Given the description of an element on the screen output the (x, y) to click on. 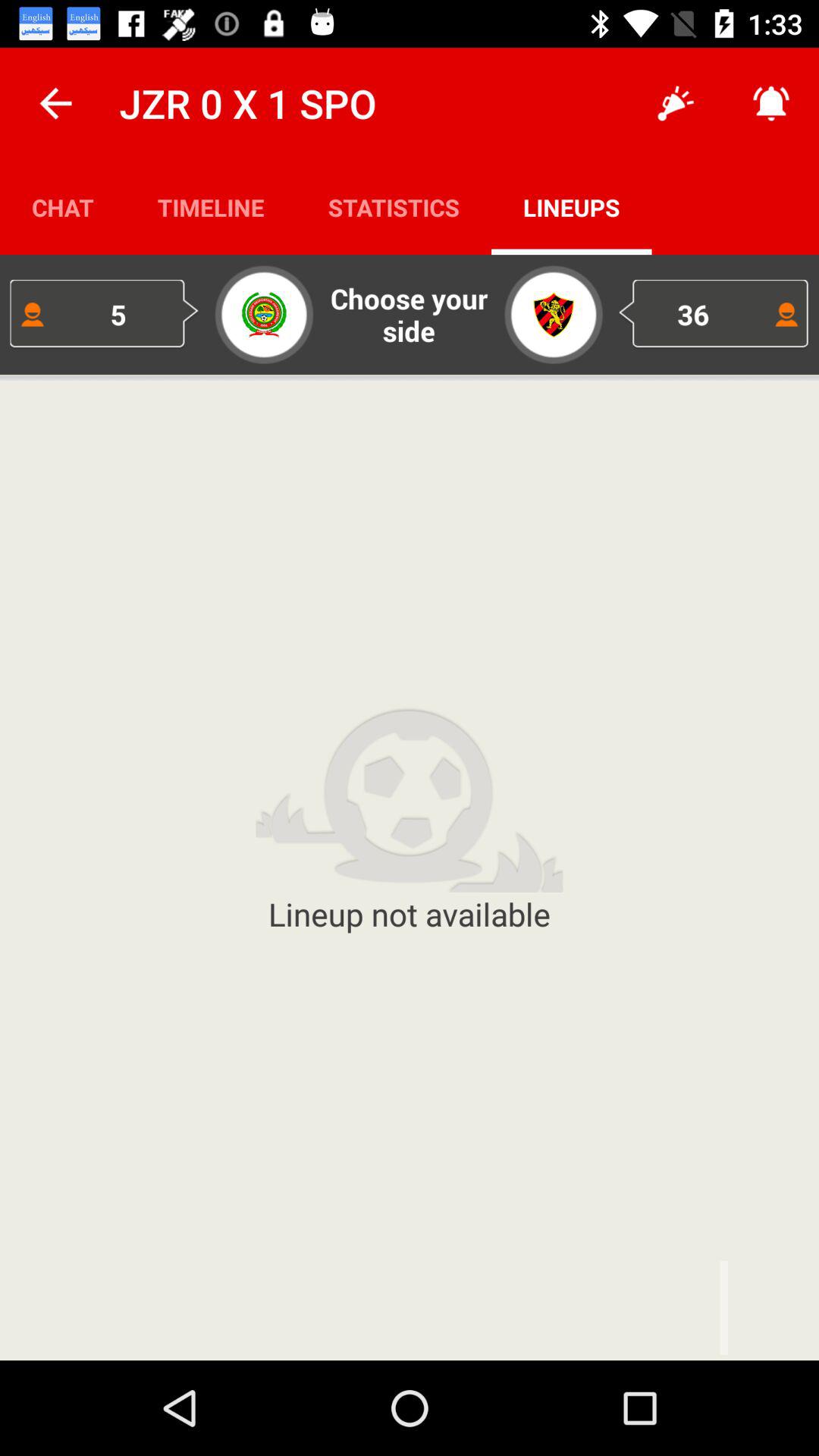
turn off 36  icon (713, 314)
